Given the description of an element on the screen output the (x, y) to click on. 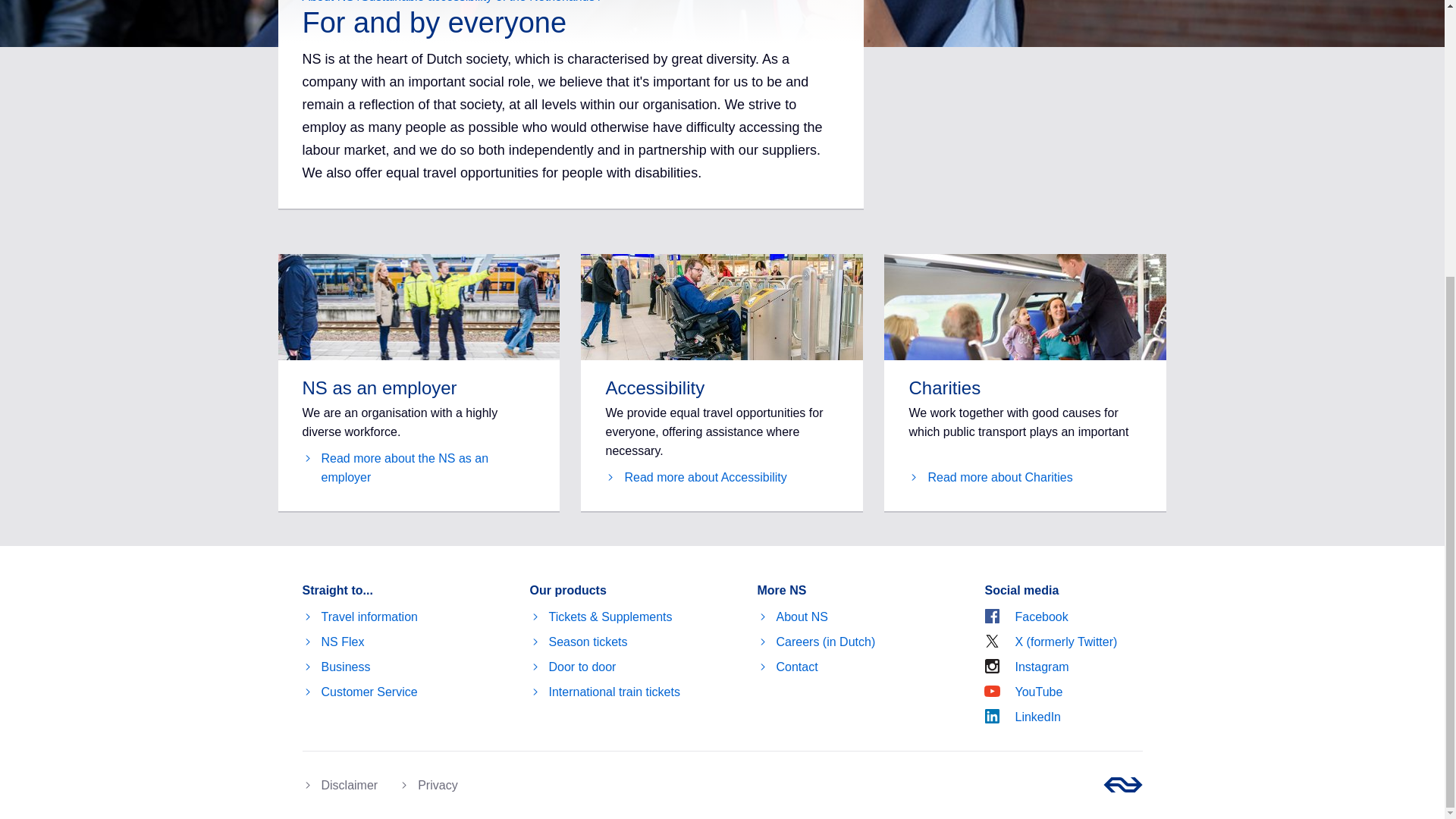
NS as an employer (418, 467)
Accessibility (695, 476)
Go to the homepage (1121, 784)
Charities (989, 476)
